Given the description of an element on the screen output the (x, y) to click on. 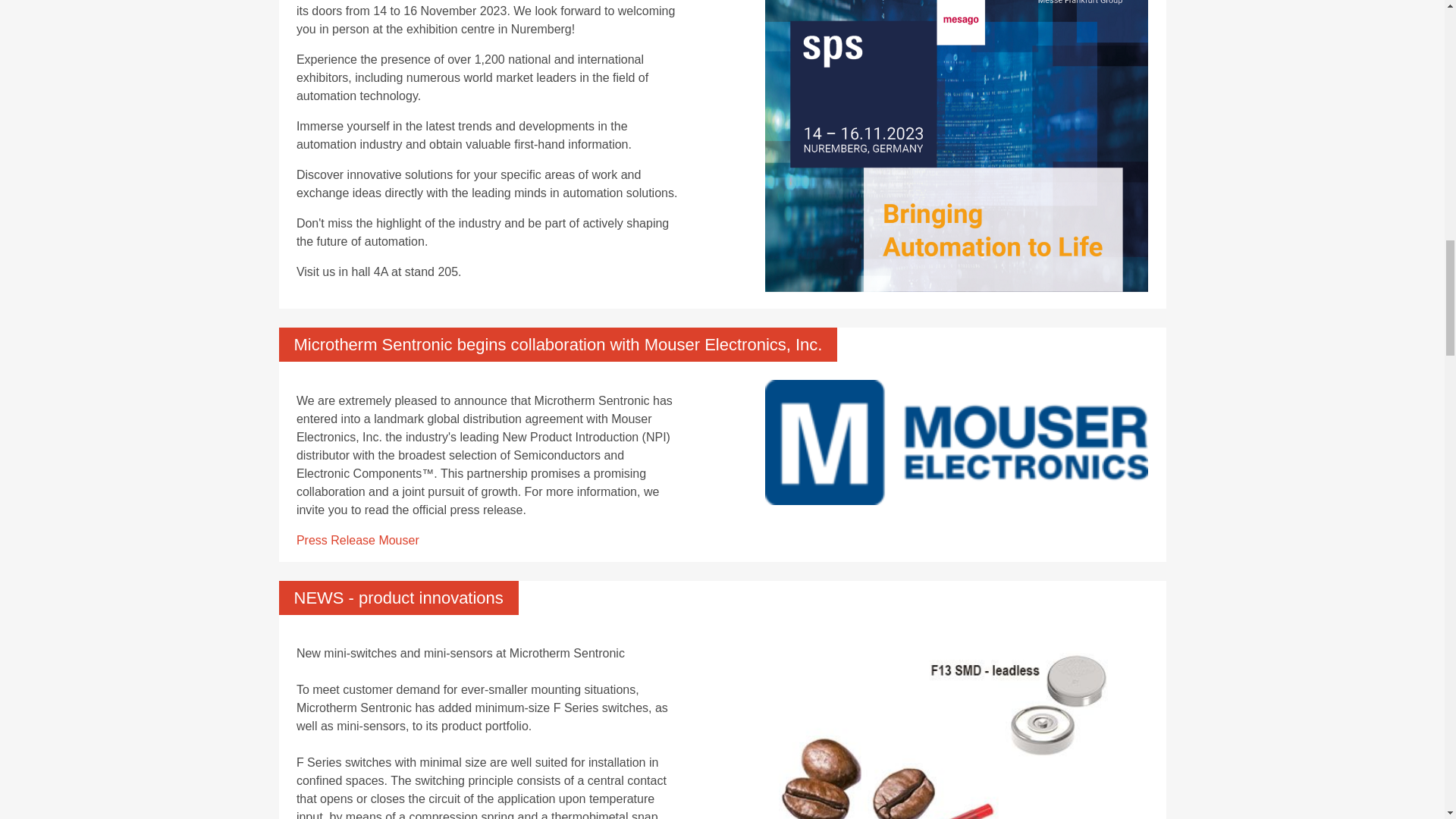
Press Release Mouser (358, 540)
